Given the description of an element on the screen output the (x, y) to click on. 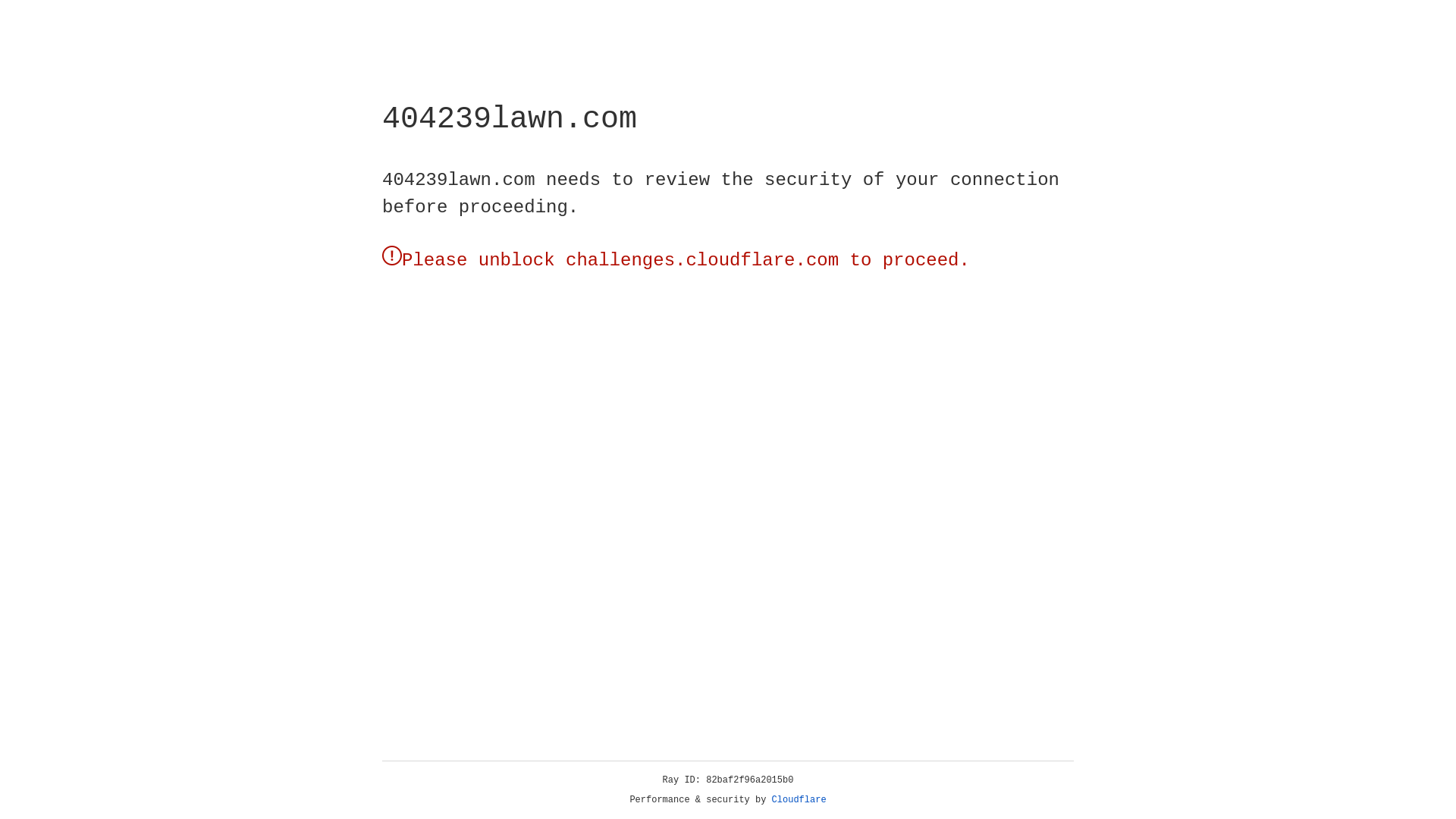
Cloudflare Element type: text (165, 107)
